Given the description of an element on the screen output the (x, y) to click on. 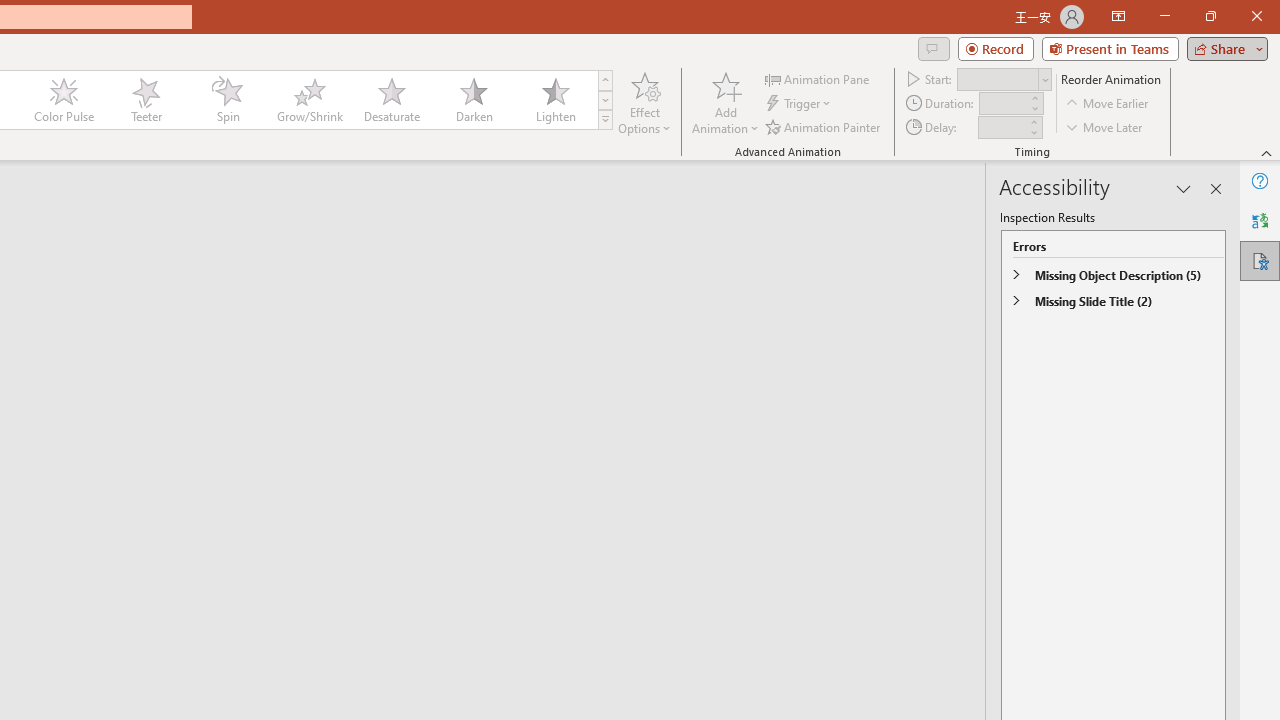
Teeter (145, 100)
Trigger (799, 103)
Move Earlier (1107, 103)
Lighten (555, 100)
Desaturate (391, 100)
